Given the description of an element on the screen output the (x, y) to click on. 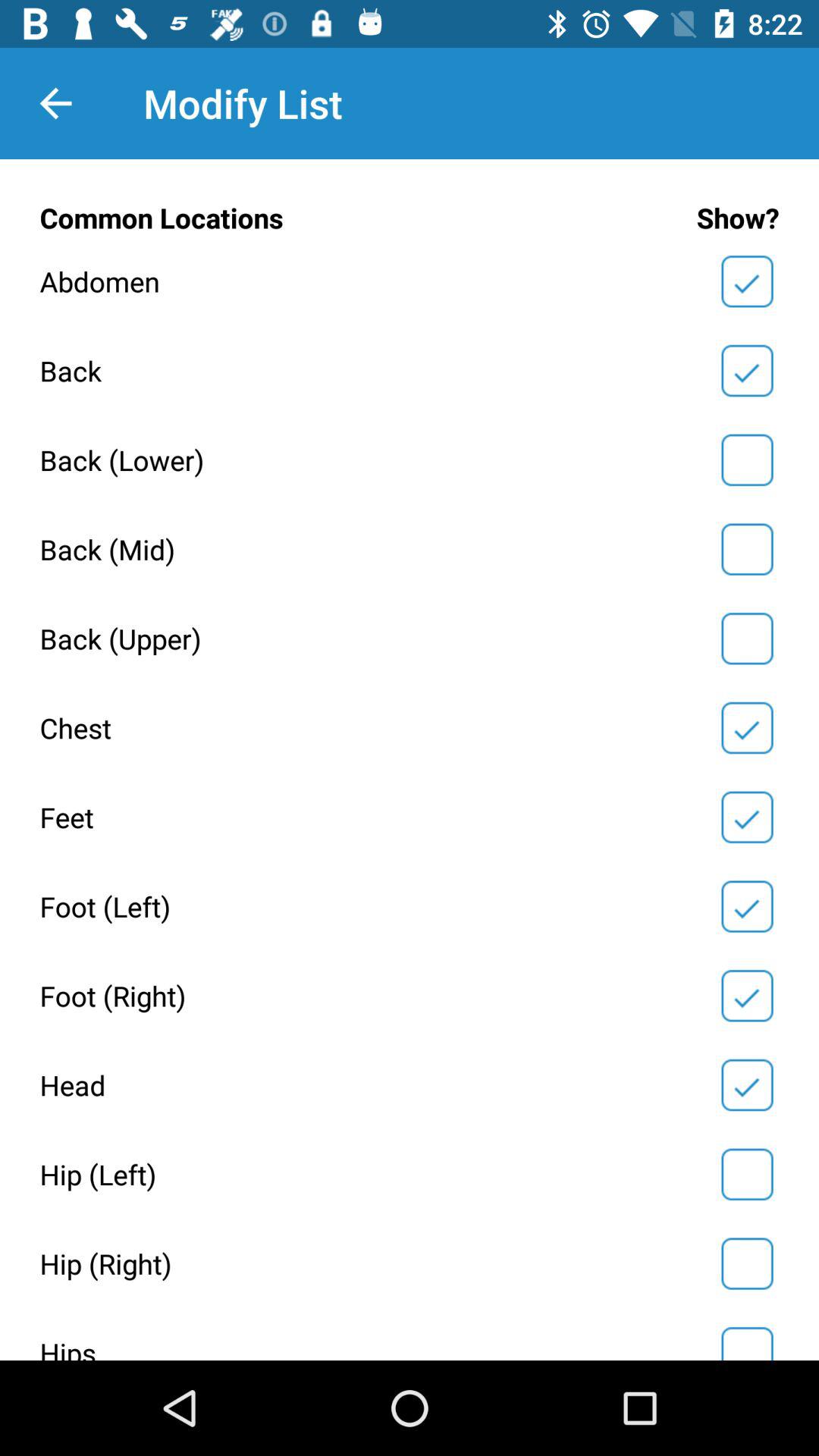
toggle chest option (747, 727)
